Given the description of an element on the screen output the (x, y) to click on. 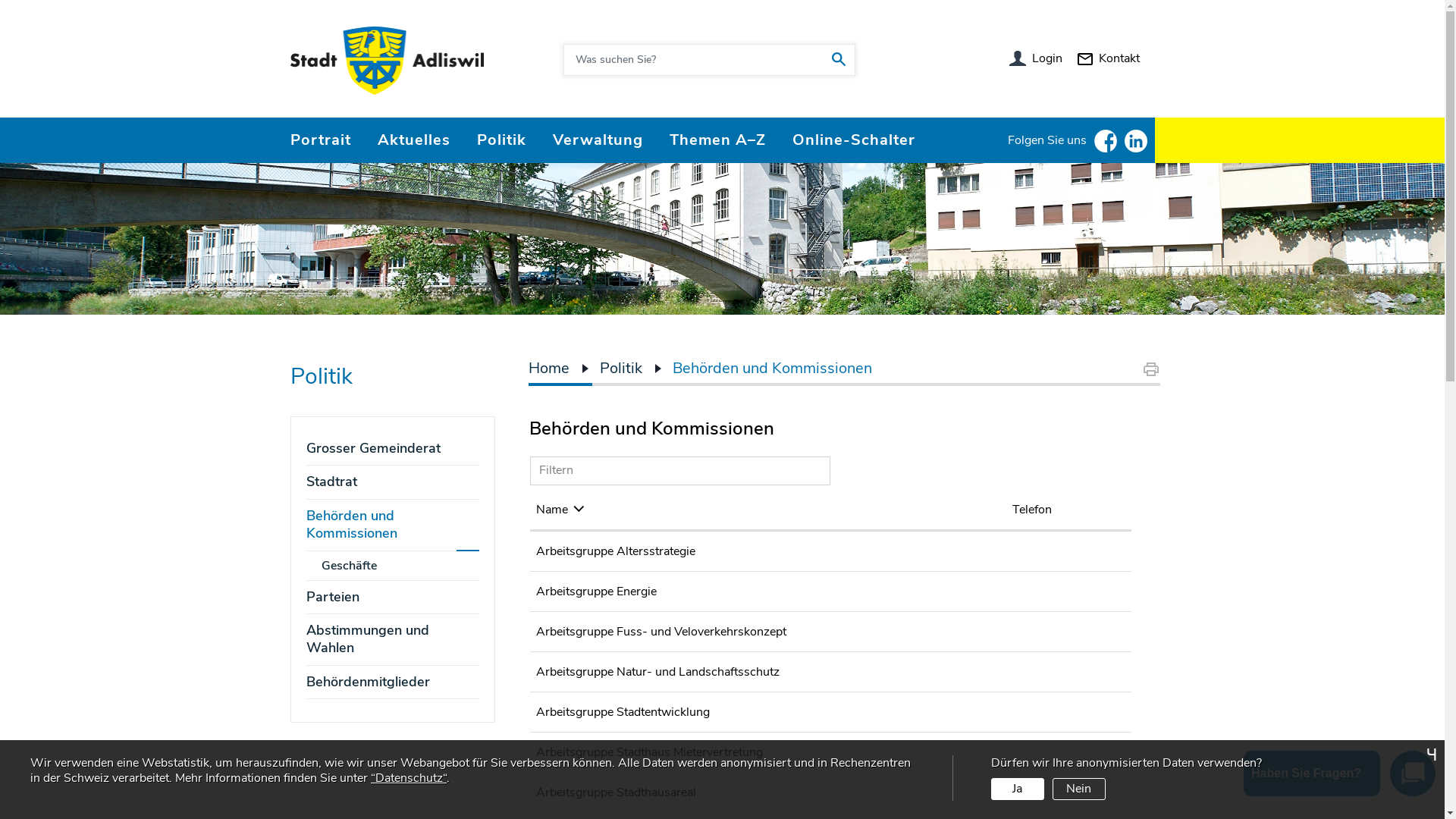
Politik Element type: text (620, 367)
Nein Element type: text (1078, 789)
Arbeitsgruppe Fuss- und Veloverkehrskonzept Element type: text (660, 631)
Home Element type: text (548, 367)
Arbeitsgruppe Energie Element type: text (595, 591)
Ja Element type: text (1017, 789)
Online-Schalter Element type: text (852, 139)
Arbeitsgruppe Natur- und Landschaftsschutz Element type: text (656, 671)
Portrait Element type: text (319, 139)
Verwaltung Element type: text (597, 139)
Politik Element type: text (320, 376)
Arbeitsgruppe Stadthausareal Element type: text (615, 792)
Arbeitsgruppe Stadtentwicklung Element type: text (622, 711)
Politik Element type: text (500, 139)
Parteien Element type: text (392, 597)
Grosser Gemeinderat Element type: text (392, 448)
Kontakt Element type: text (1107, 57)
Arbeitsgruppe Stadthaus Mietervertretung Element type: text (648, 751)
Seite drucken Element type: hover (1151, 369)
Abstimmungen und Wahlen Element type: text (392, 639)
Aktuelles Element type: text (413, 139)
Arbeitsgruppe Altersstrategie Element type: text (614, 550)
Stadtrat Element type: text (392, 481)
Was suchen Sie? Element type: text (840, 55)
Login Element type: text (1034, 58)
Login Element type: text (1035, 58)
